Given the description of an element on the screen output the (x, y) to click on. 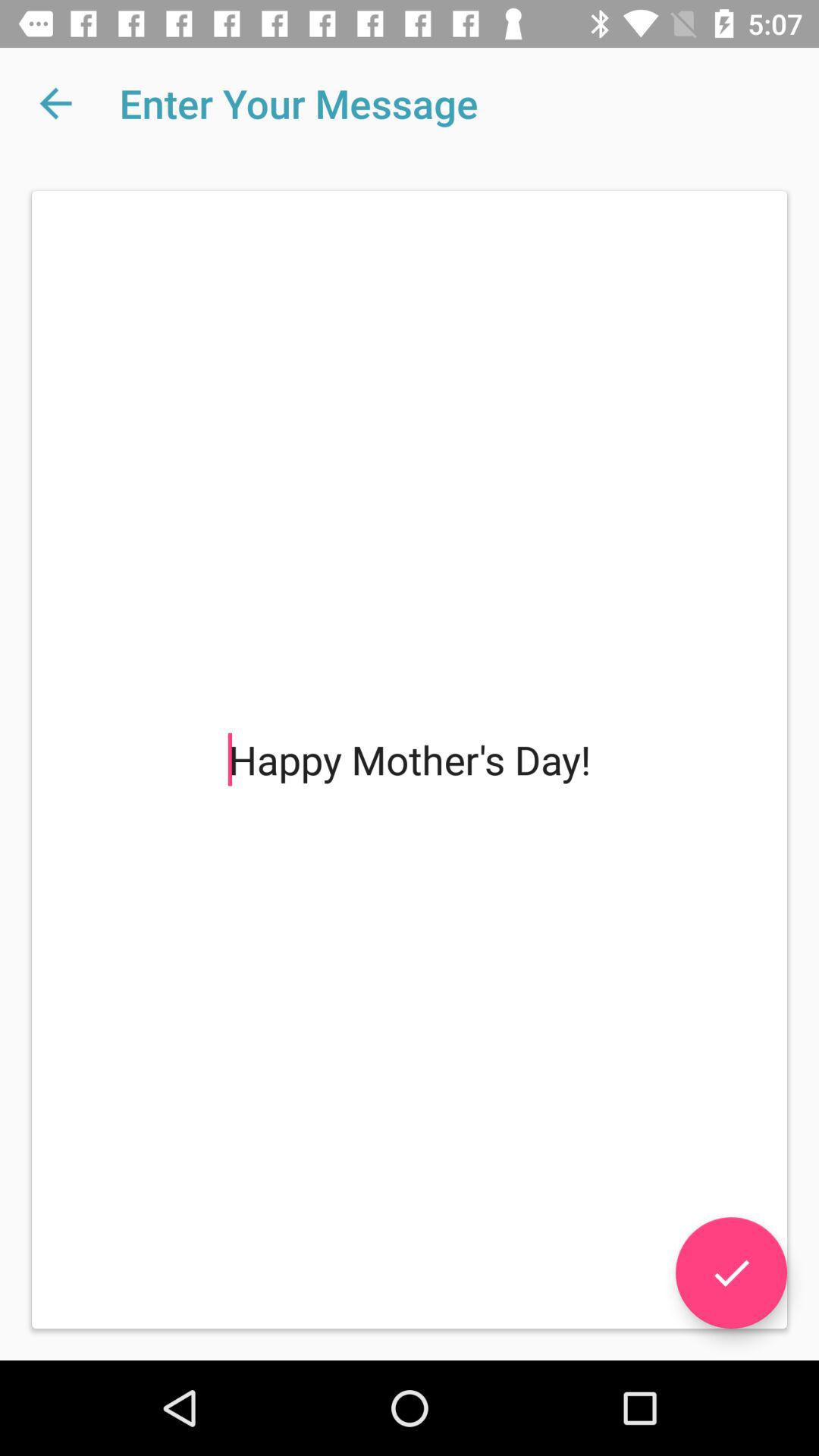
turn on the happy mother s icon (409, 759)
